Given the description of an element on the screen output the (x, y) to click on. 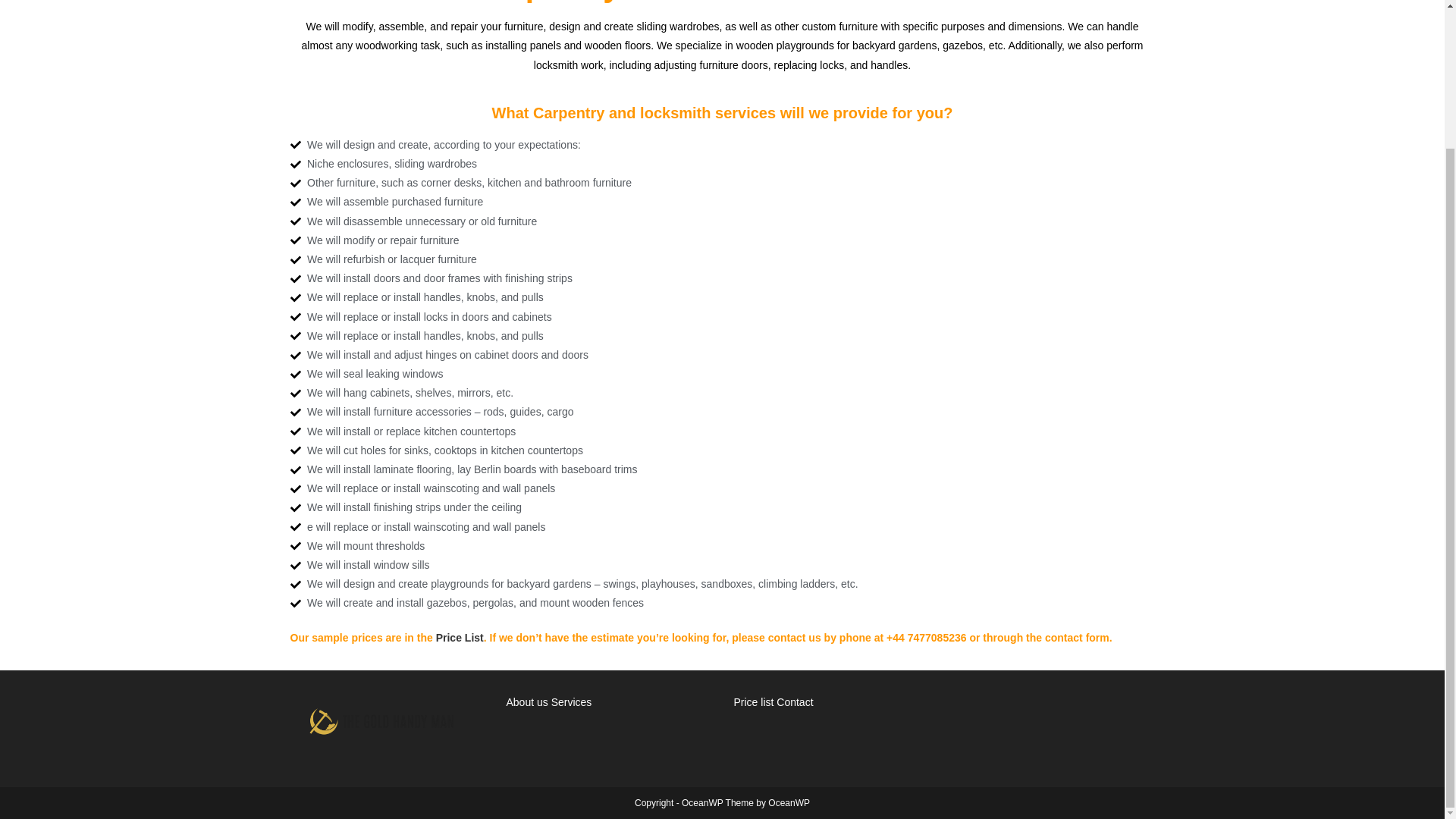
Price List (459, 637)
Services (571, 702)
Contact (794, 702)
Price list (753, 702)
About us (528, 702)
